Given the description of an element on the screen output the (x, y) to click on. 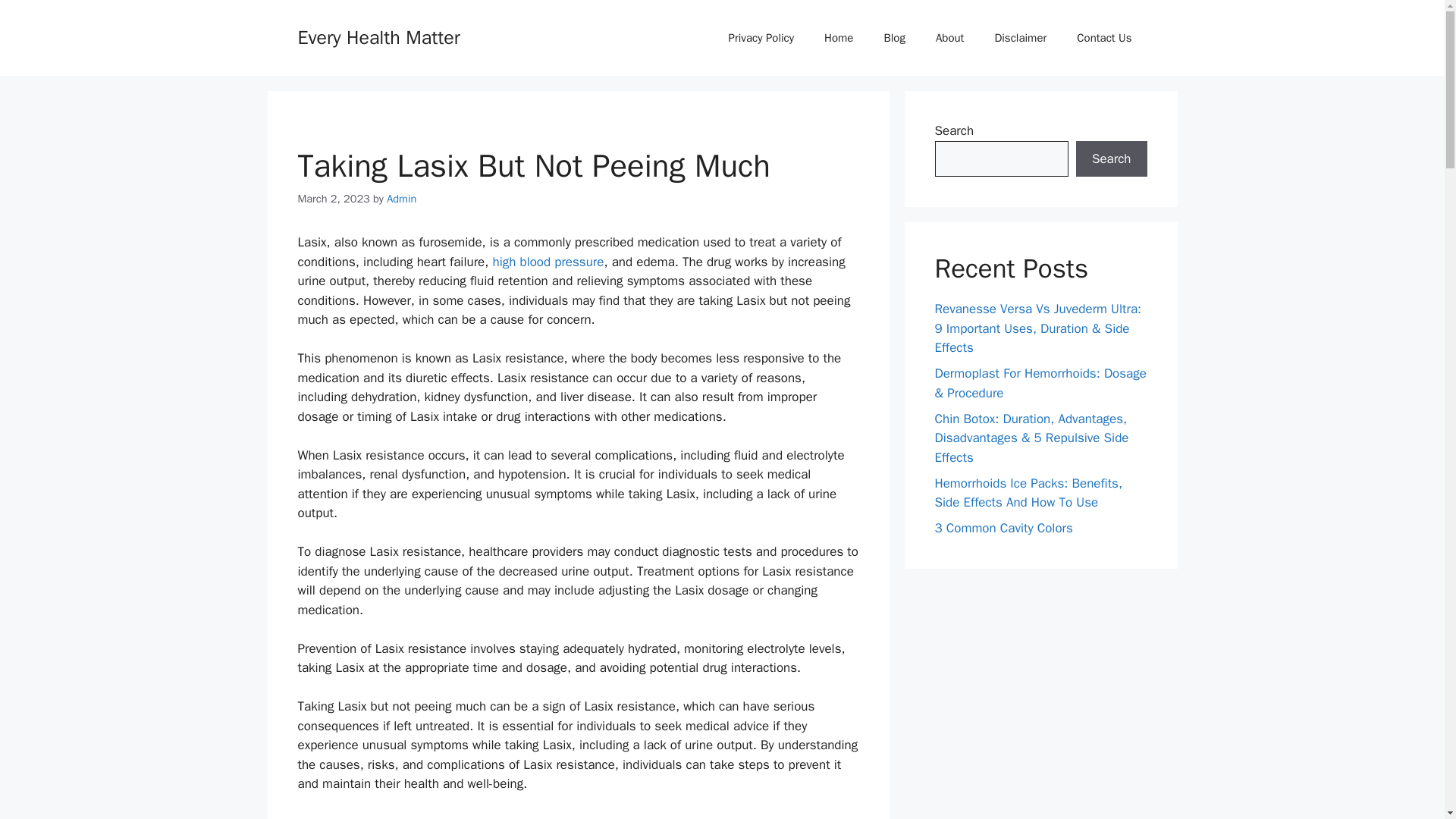
Admin (401, 198)
Contact Us (1104, 37)
Blog (893, 37)
Search (1111, 158)
View all posts by Admin (401, 198)
Privacy Policy (761, 37)
3 Common Cavity Colors (1002, 528)
high blood pressure (548, 261)
Hemorrhoids Ice Packs: Benefits, Side Effects And How To Use (1028, 492)
Home (838, 37)
